Given the description of an element on the screen output the (x, y) to click on. 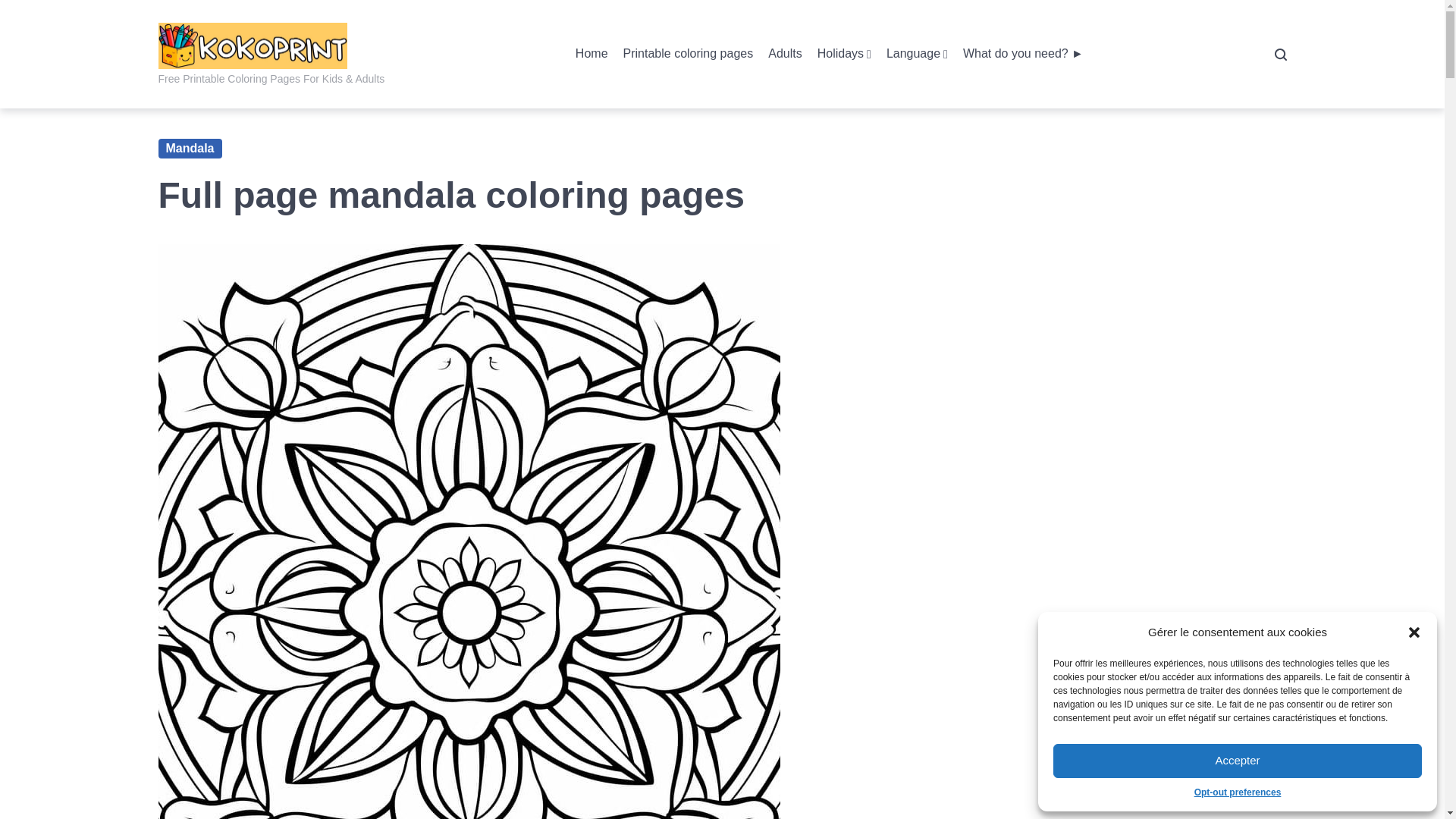
Holidays (843, 54)
Adults (785, 54)
Language (916, 54)
Opt-out preferences (1237, 792)
Printable coloring pages (688, 54)
Home (591, 54)
Accepter (1237, 760)
